Given the description of an element on the screen output the (x, y) to click on. 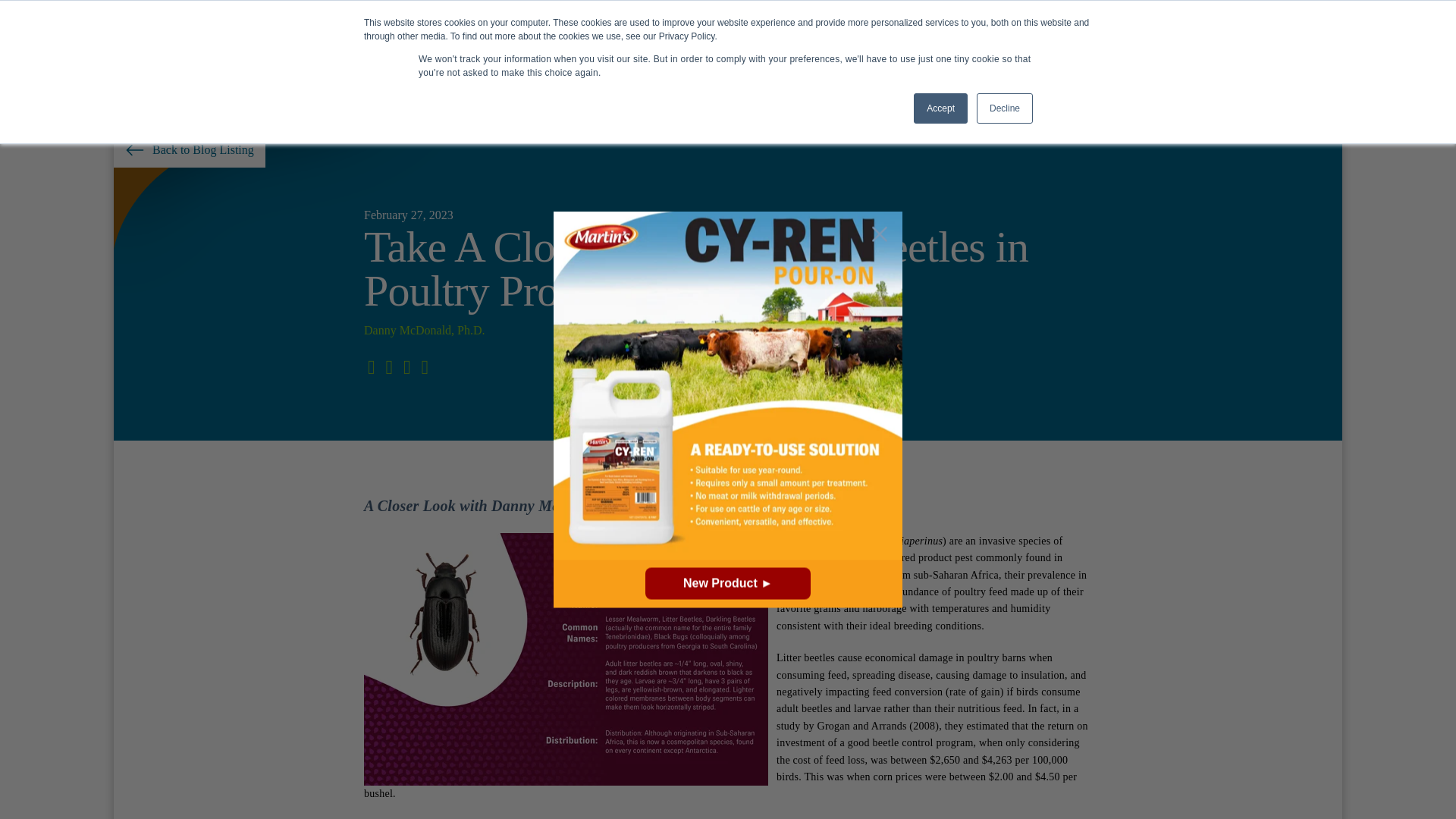
Contact (1117, 15)
Accept (941, 108)
Product Categories (733, 66)
Where to Buy (869, 65)
Tools (959, 66)
About (1070, 15)
Home (1027, 15)
Decline (1004, 108)
Blog (1160, 15)
Control Solutions Inc. Production Animal (215, 67)
